Given the description of an element on the screen output the (x, y) to click on. 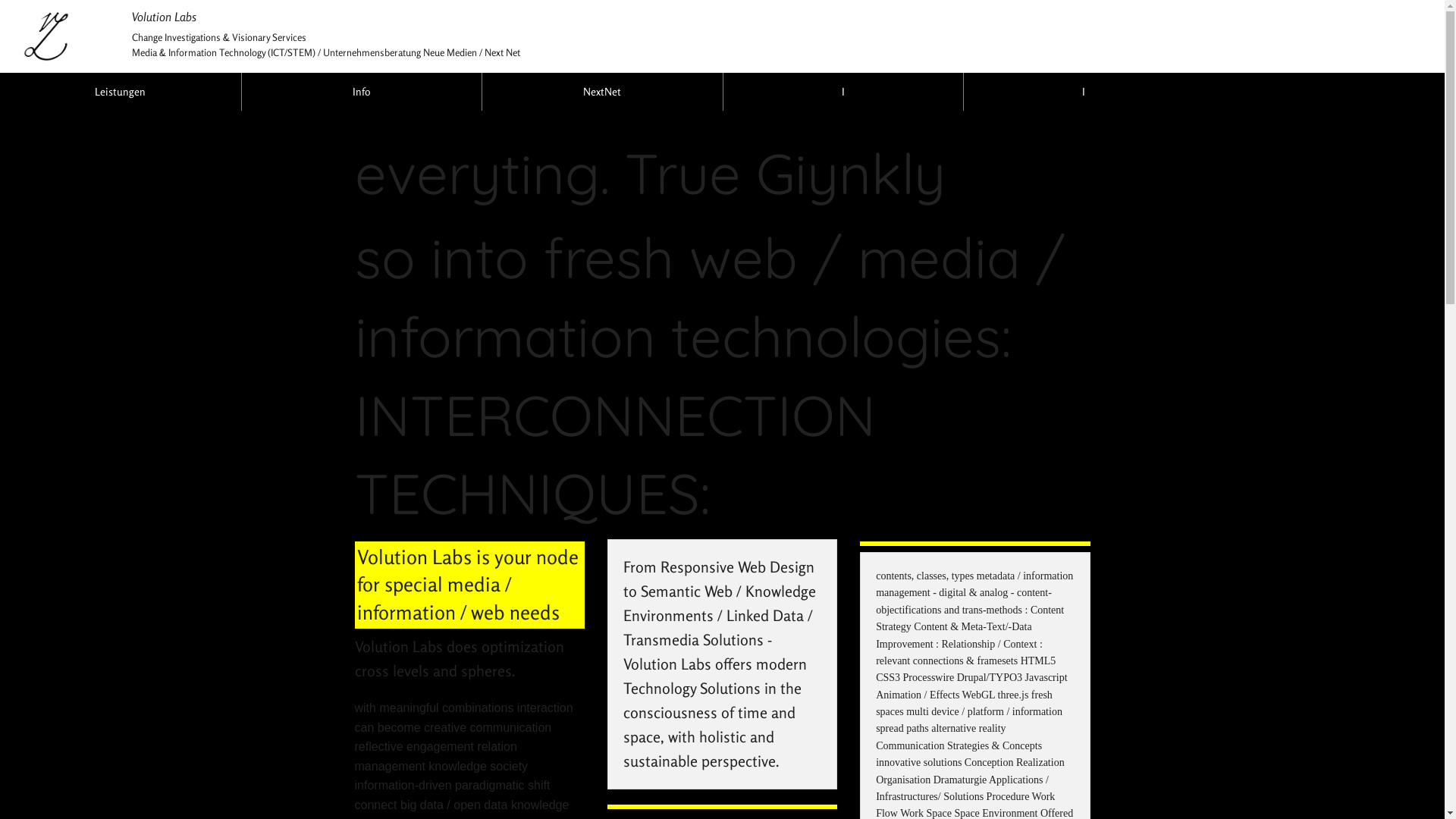
Info Element type: text (361, 91)
NextNet Element type: text (601, 91)
I Element type: text (1083, 91)
Leistungen Element type: text (120, 91)
I Element type: text (842, 91)
